Given the description of an element on the screen output the (x, y) to click on. 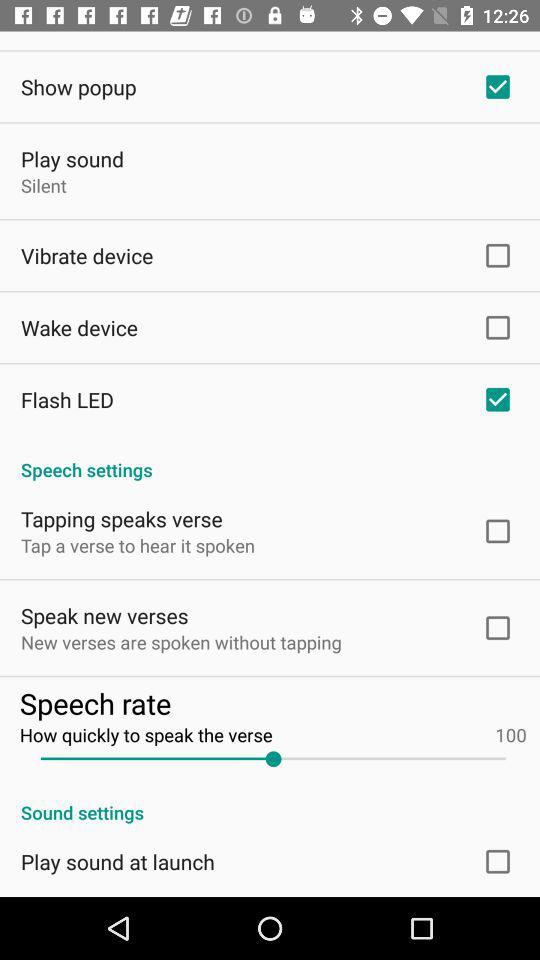
swipe until the tap a verse (137, 545)
